Given the description of an element on the screen output the (x, y) to click on. 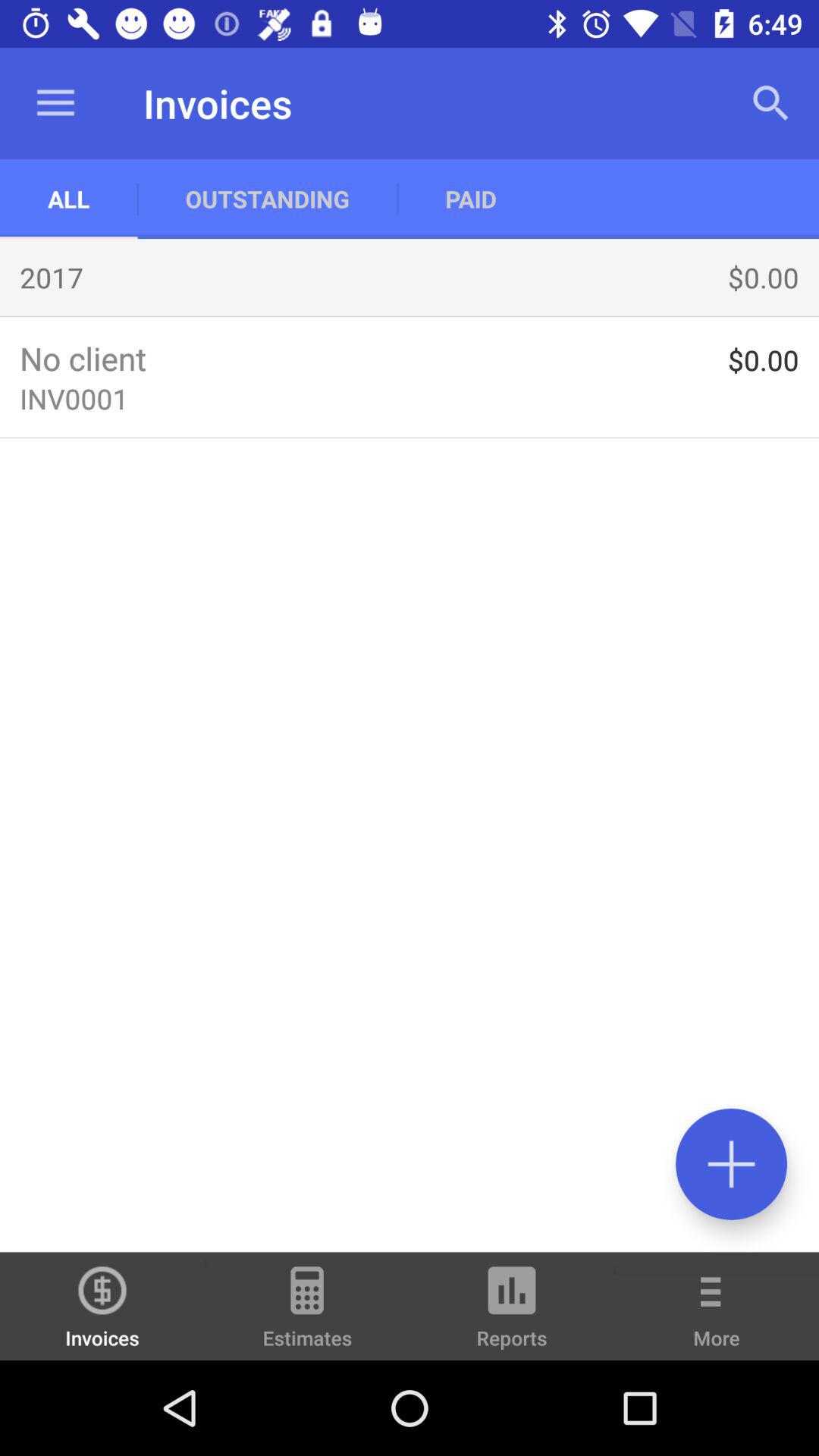
tap the item next to paid icon (771, 103)
